Given the description of an element on the screen output the (x, y) to click on. 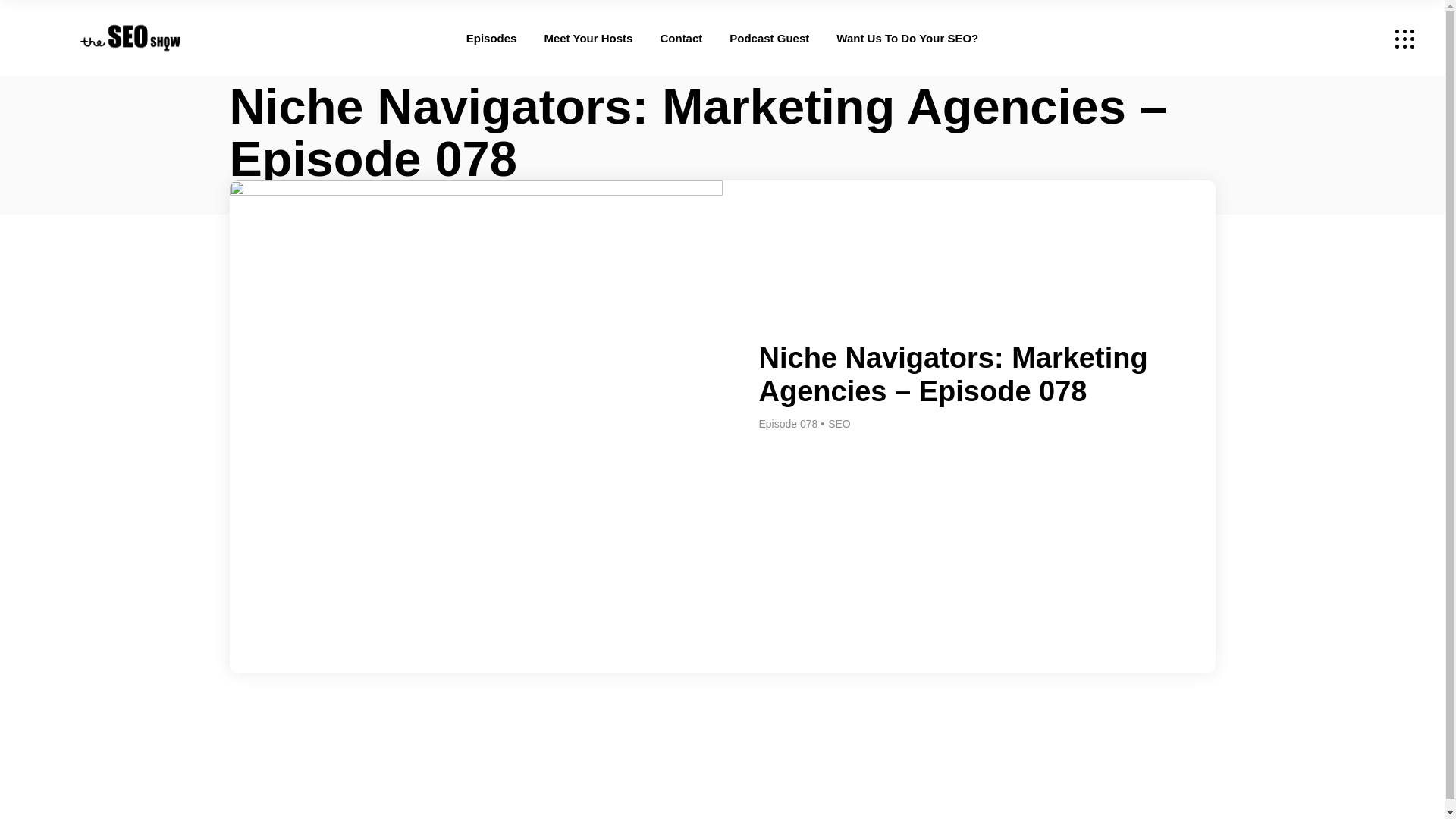
Podcast Guest (769, 38)
Want Us To Do Your SEO? (906, 38)
SEO (839, 423)
SEO (282, 199)
Meet Your Hosts (587, 38)
Home (243, 199)
